Given the description of an element on the screen output the (x, y) to click on. 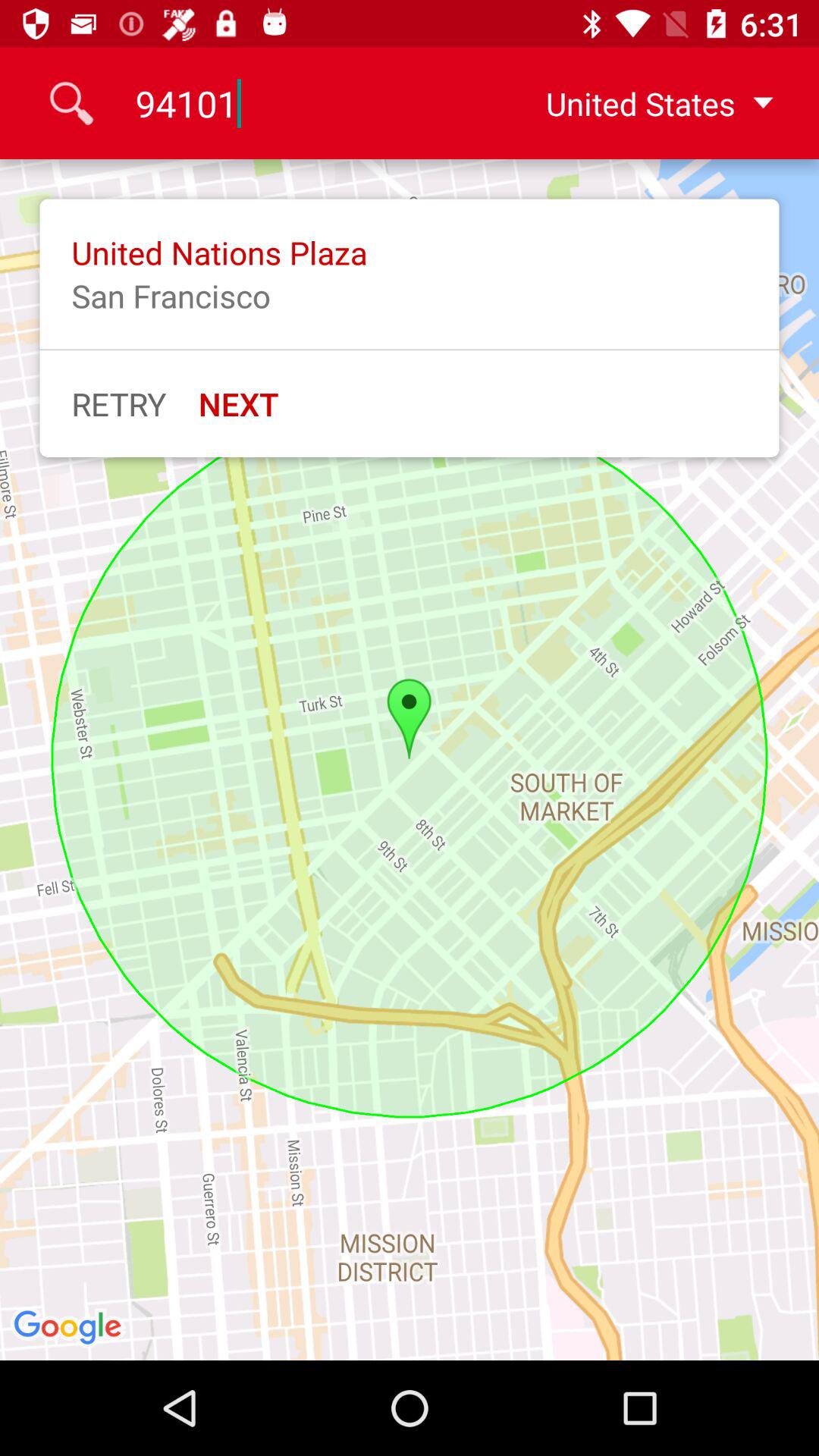
press item next to the united states (309, 103)
